Given the description of an element on the screen output the (x, y) to click on. 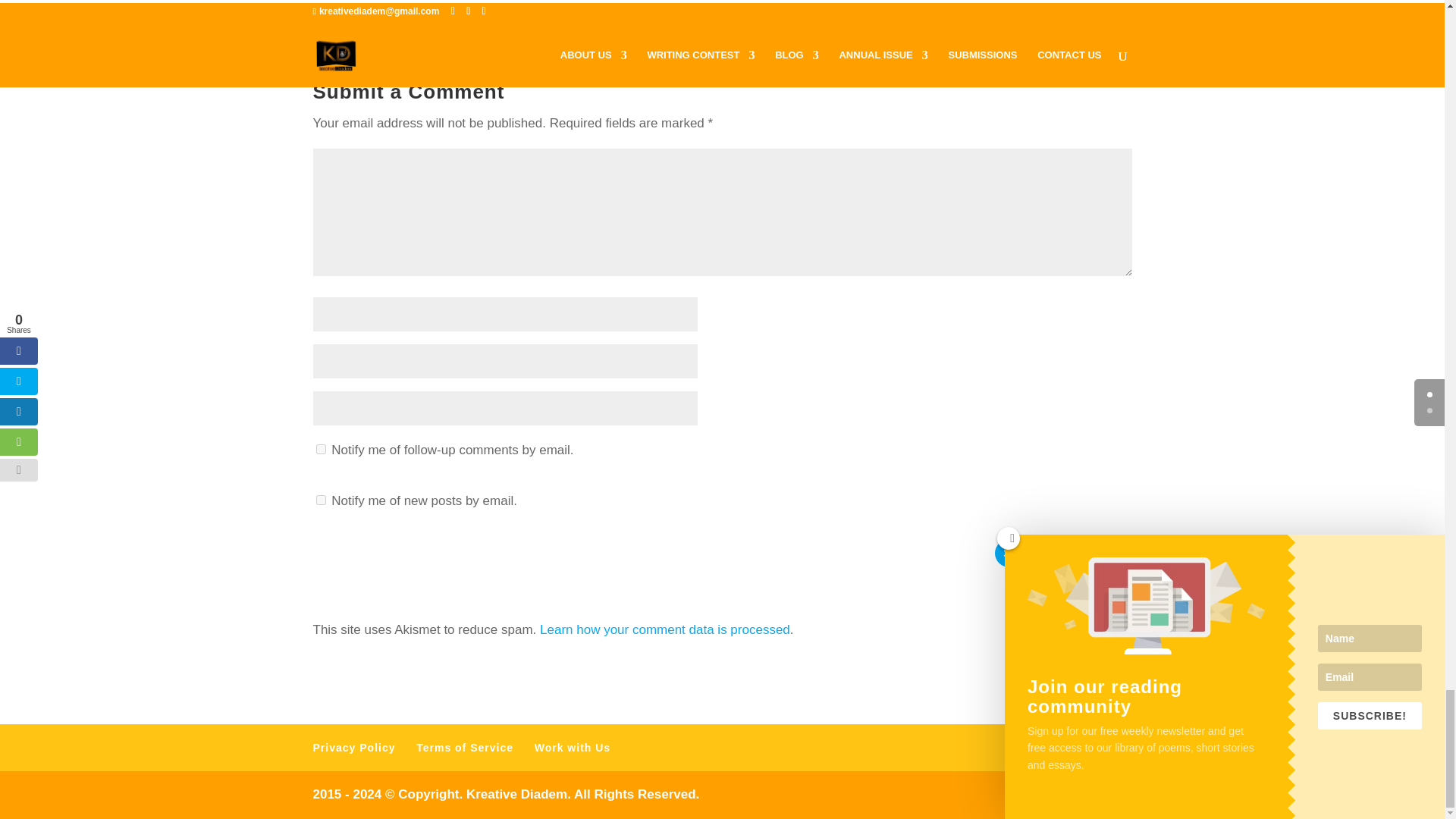
Submit Comment (1063, 552)
subscribe (319, 500)
subscribe (319, 449)
